Given the description of an element on the screen output the (x, y) to click on. 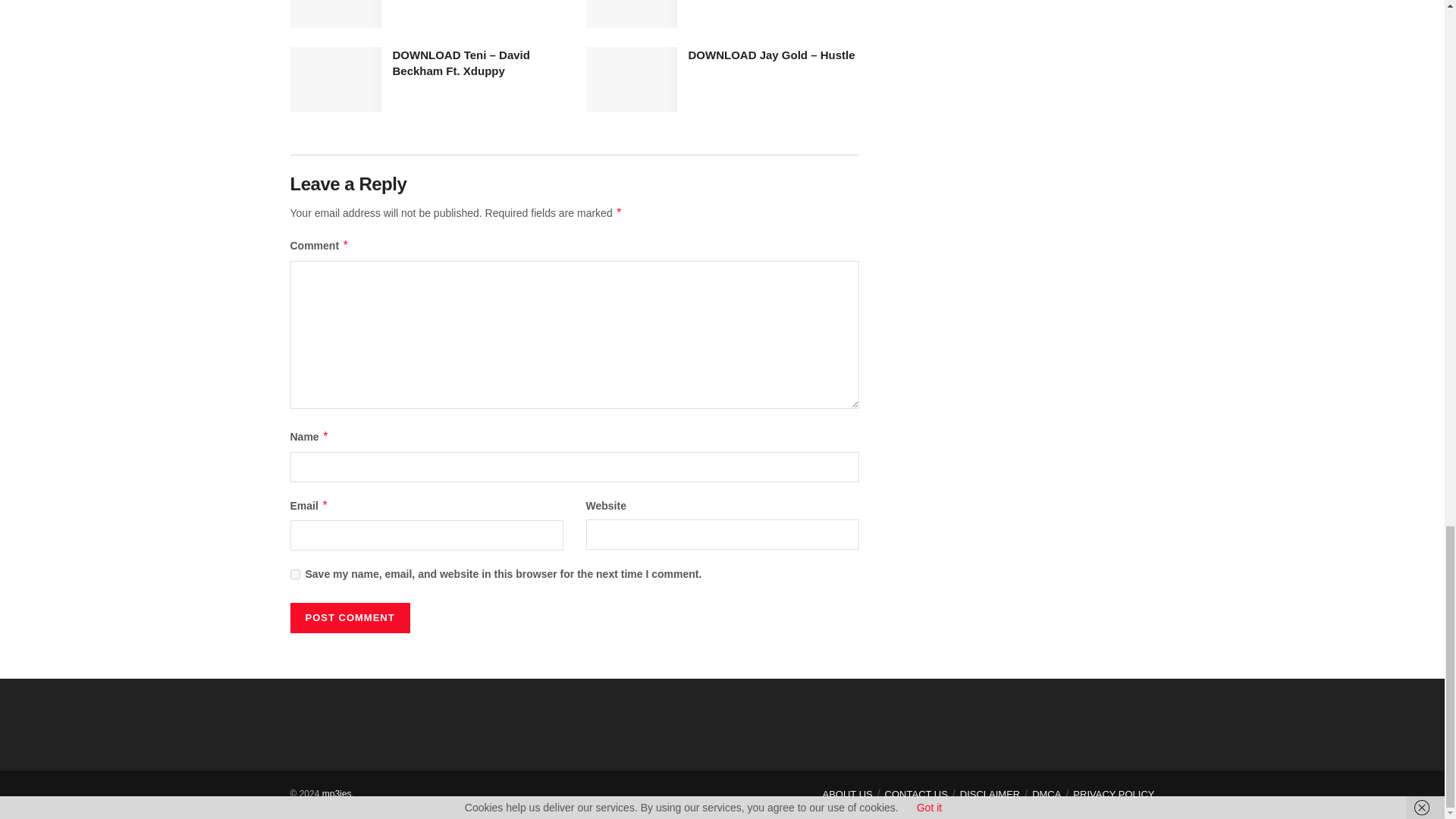
Post Comment (349, 617)
mp3ies (336, 793)
yes (294, 574)
